Given the description of an element on the screen output the (x, y) to click on. 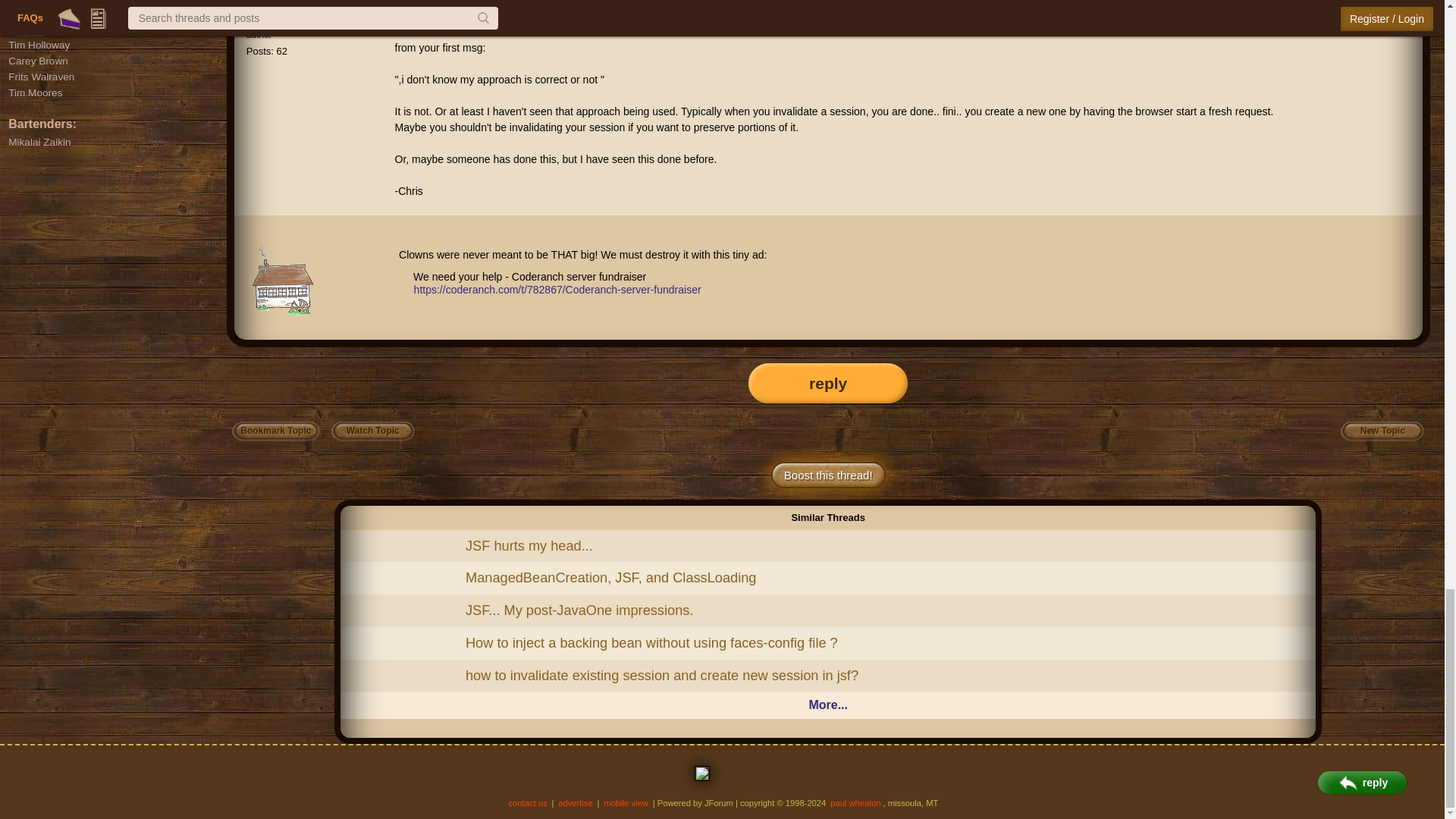
mobile view (626, 802)
